Given the description of an element on the screen output the (x, y) to click on. 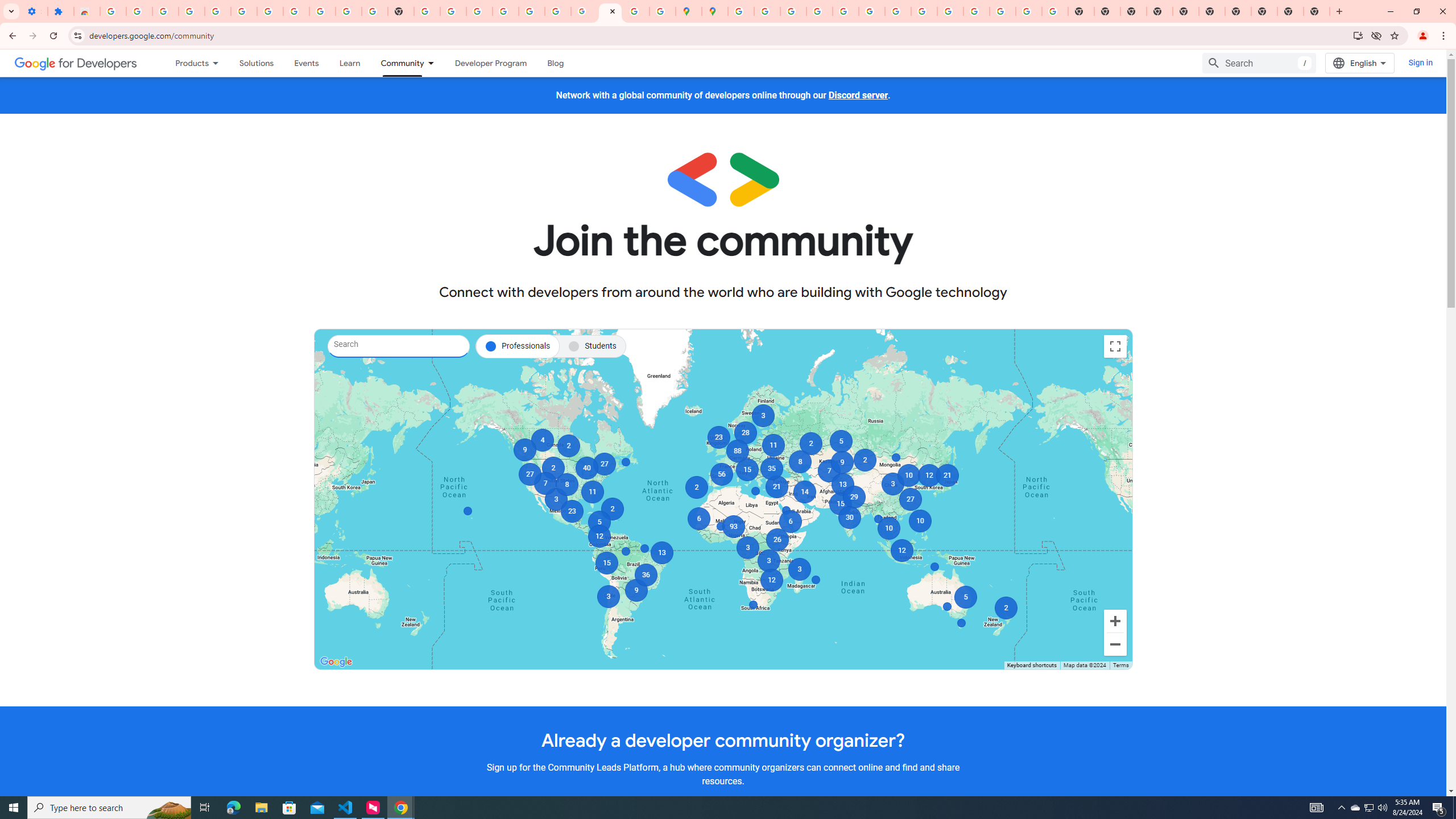
56 (721, 473)
28 (745, 432)
